Given the description of an element on the screen output the (x, y) to click on. 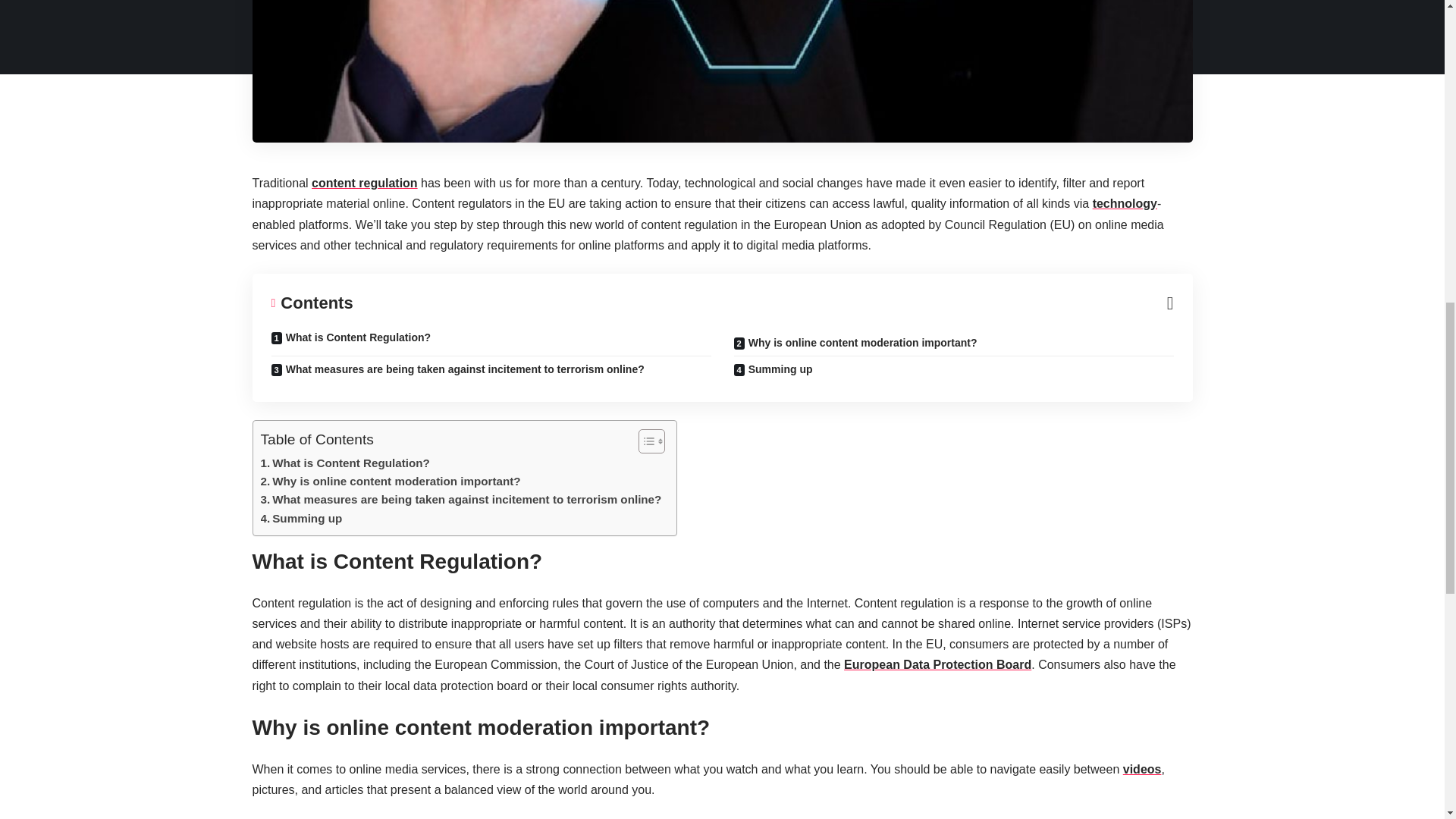
Summing up (301, 518)
What is Content Regulation? (344, 463)
Why is online content moderation important? (390, 481)
